Given the description of an element on the screen output the (x, y) to click on. 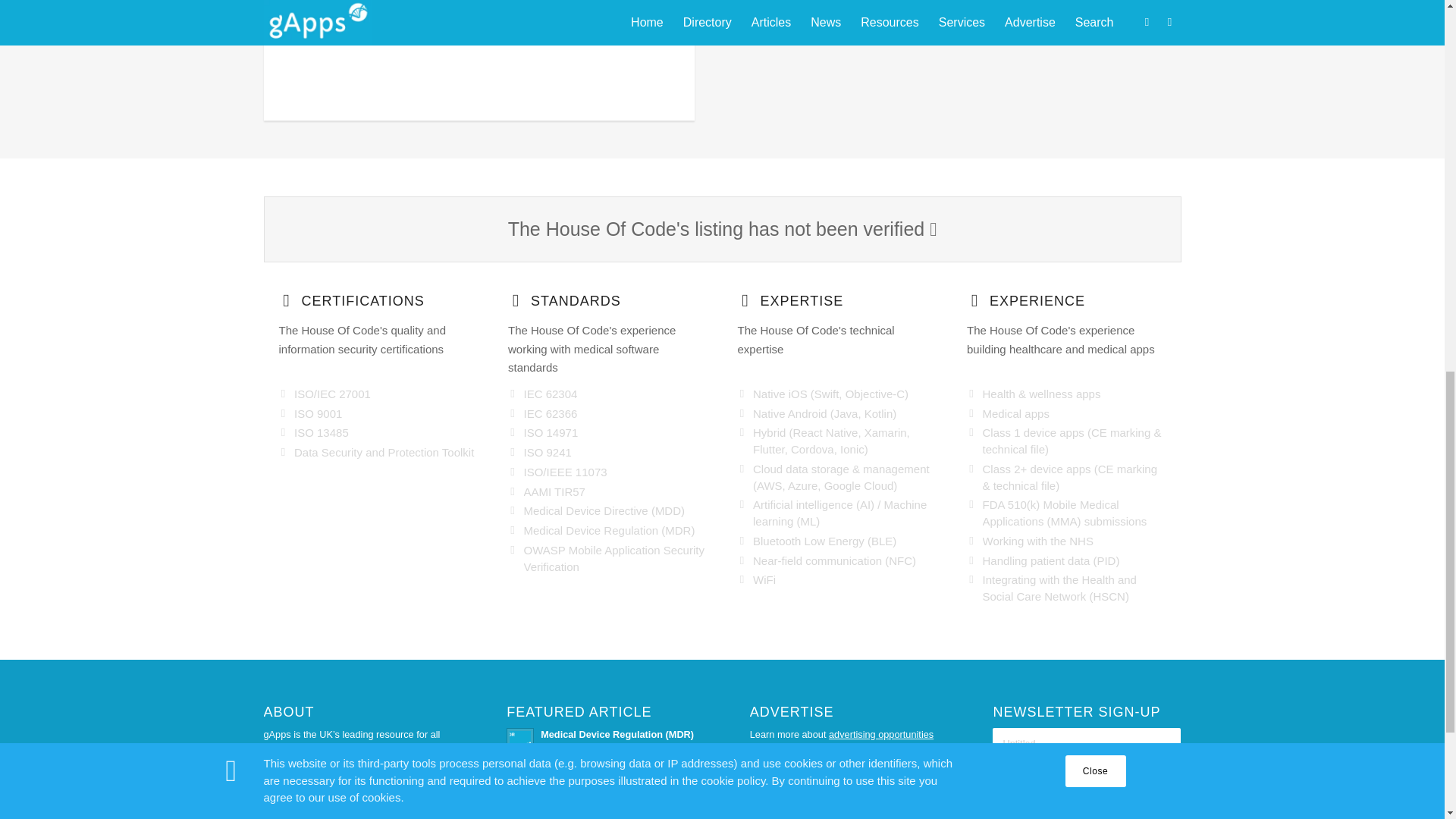
advertising opportunities (880, 734)
About us (282, 783)
Contact us (286, 799)
app developers directory (833, 759)
Write for us (288, 814)
